Given the description of an element on the screen output the (x, y) to click on. 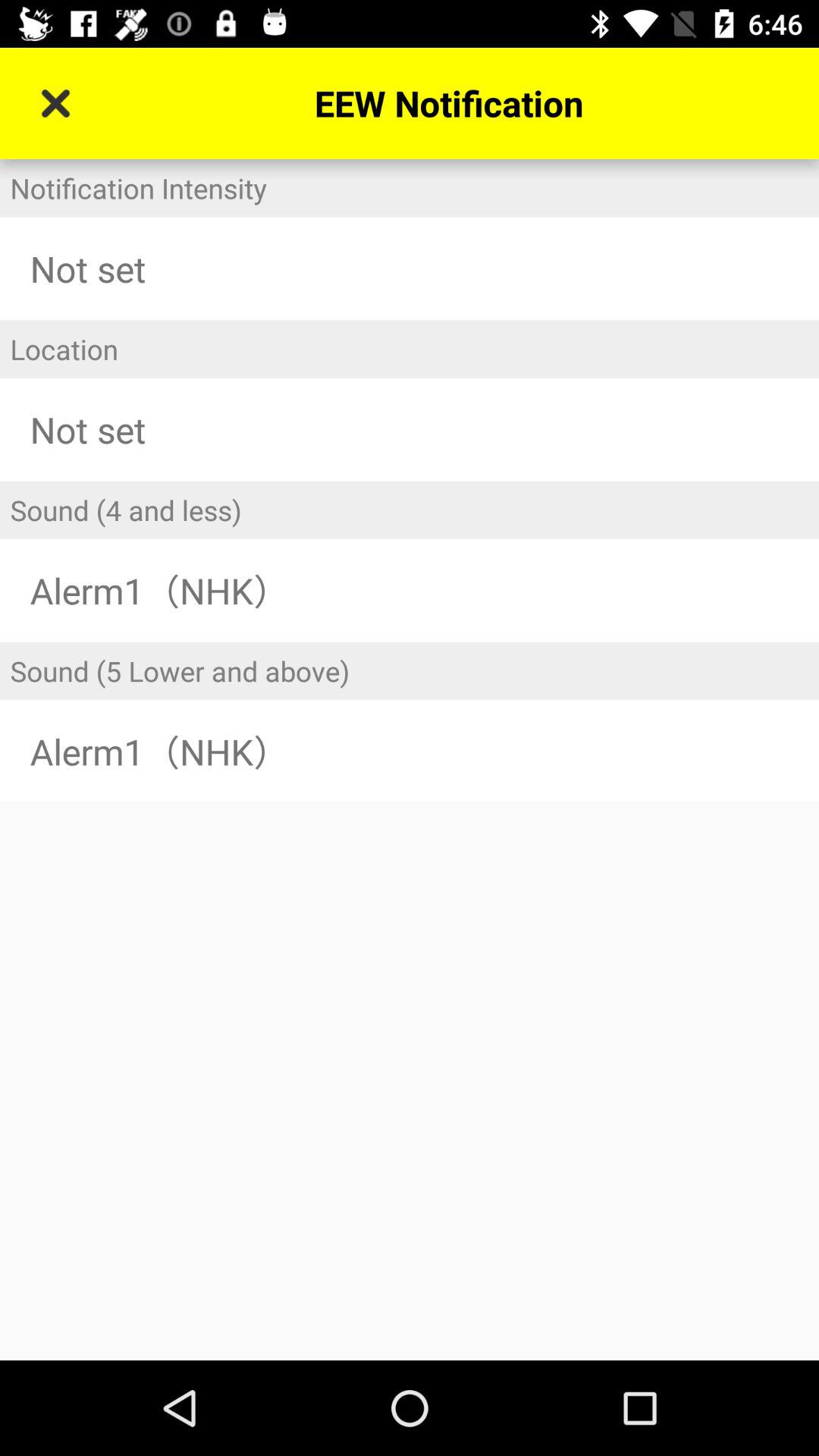
tap icon above notification intensity icon (55, 103)
